Given the description of an element on the screen output the (x, y) to click on. 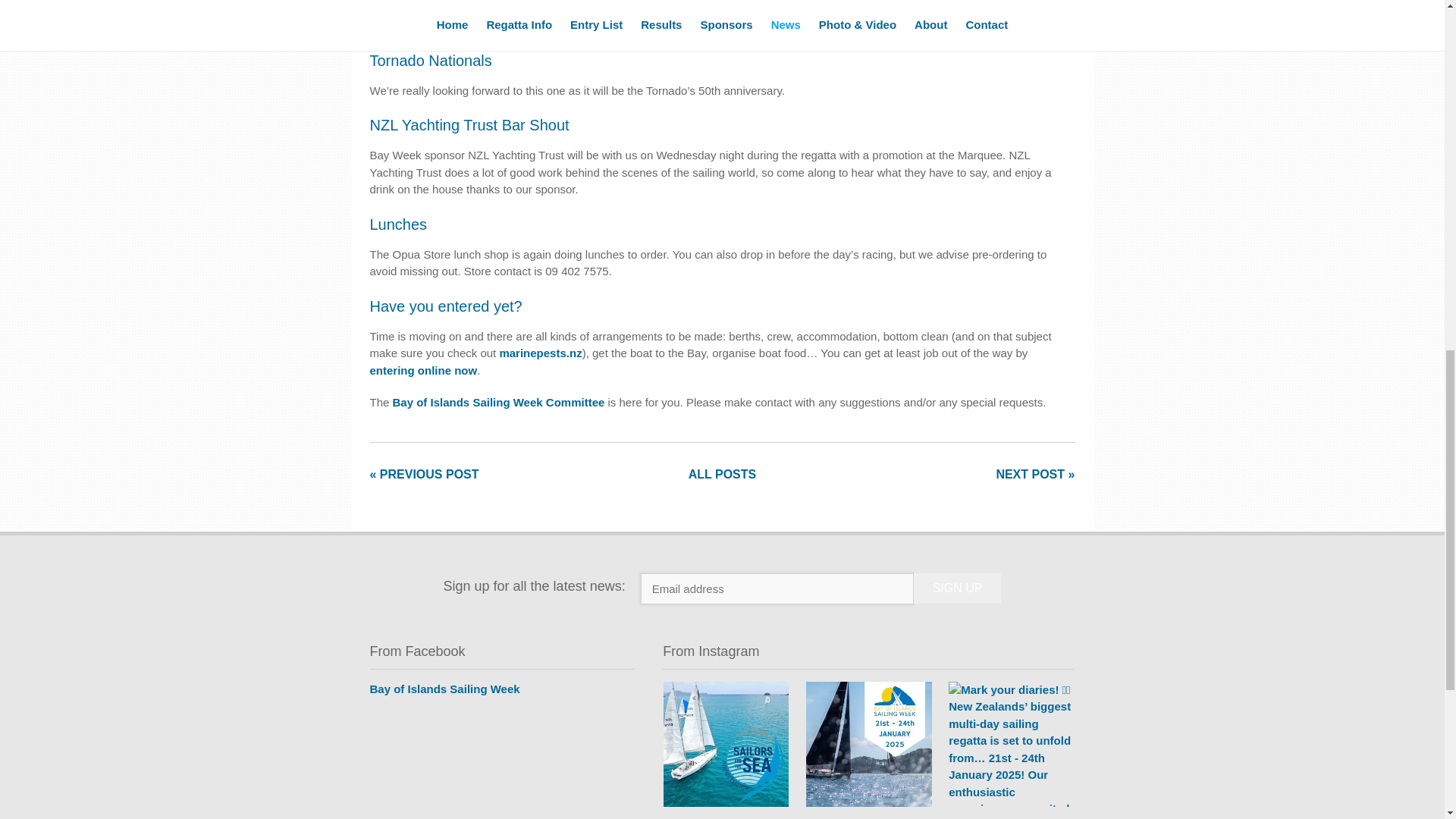
Sign up (957, 588)
